Given the description of an element on the screen output the (x, y) to click on. 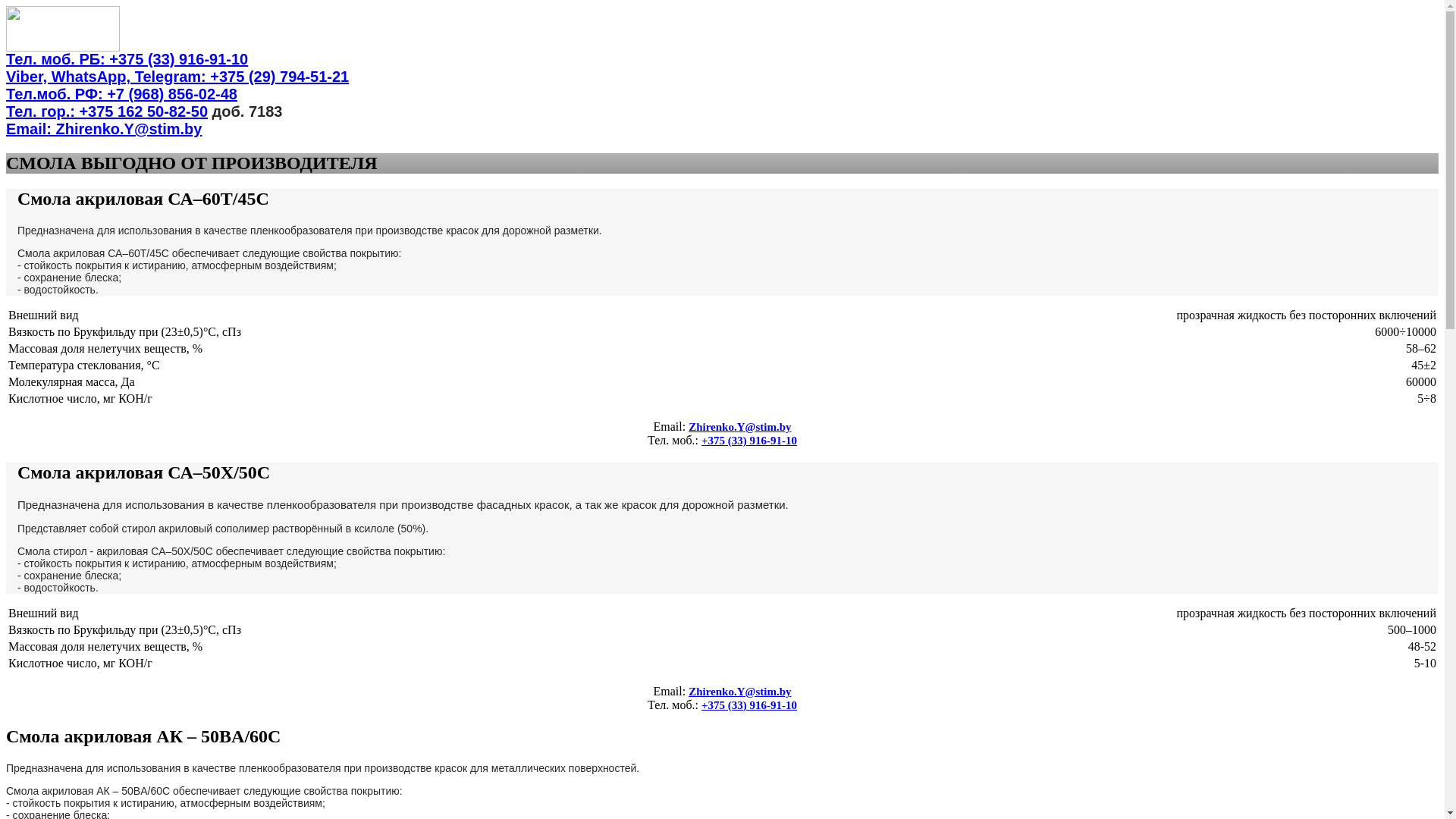
Zhirenko.Y@stim.by Element type: text (739, 426)
+375 (33) 916-91-10 Element type: text (749, 440)
Email: Zhirenko.Y@stim.by Element type: text (103, 128)
+375 (33) 916-91-10 Element type: text (749, 705)
Viber, WhatsApp, Telegram: +375 (29) 794-51-21 Element type: text (177, 76)
Zhirenko.Y@stim.by Element type: text (739, 691)
